Given the description of an element on the screen output the (x, y) to click on. 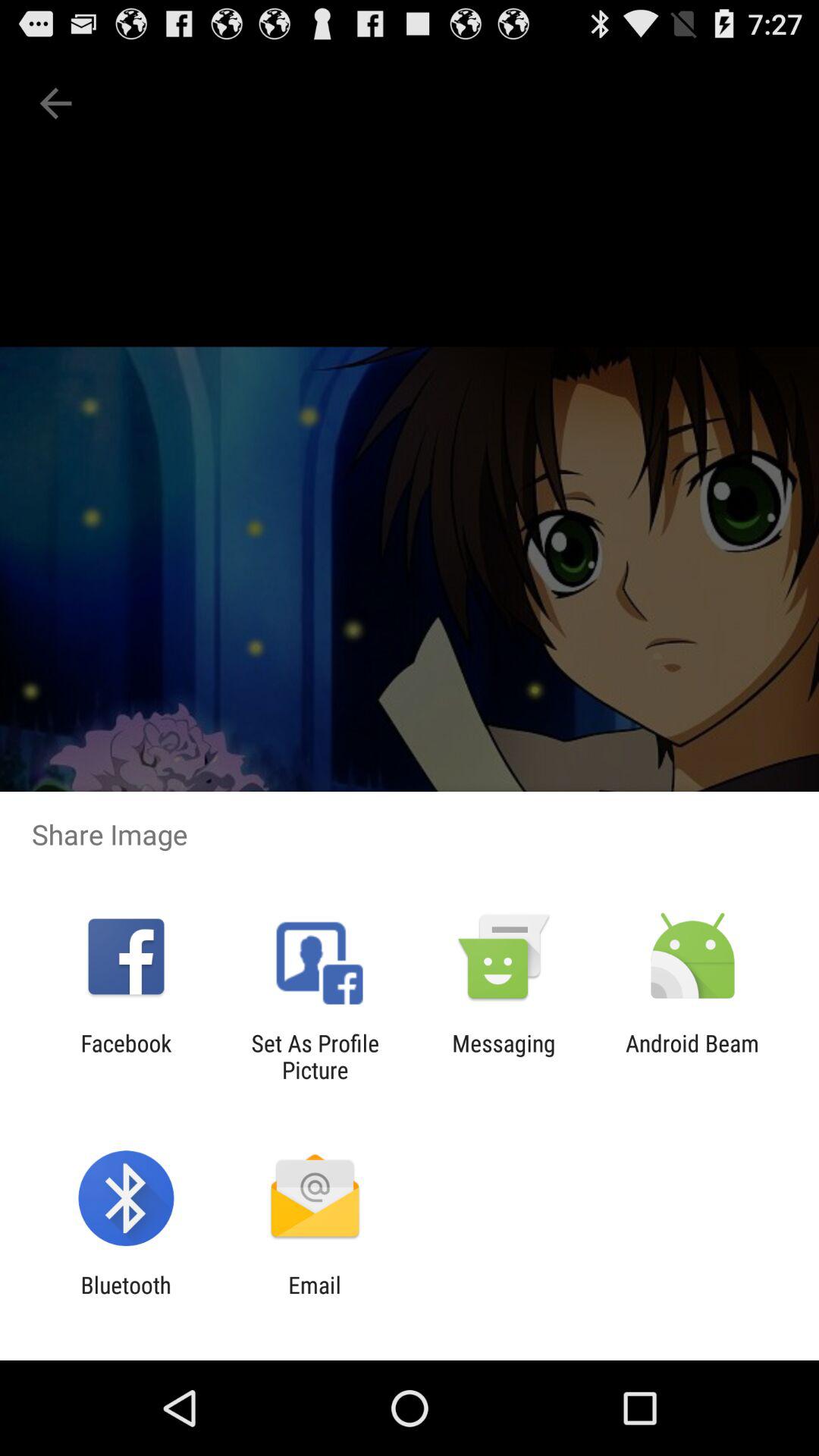
press the icon next to messaging (314, 1056)
